Given the description of an element on the screen output the (x, y) to click on. 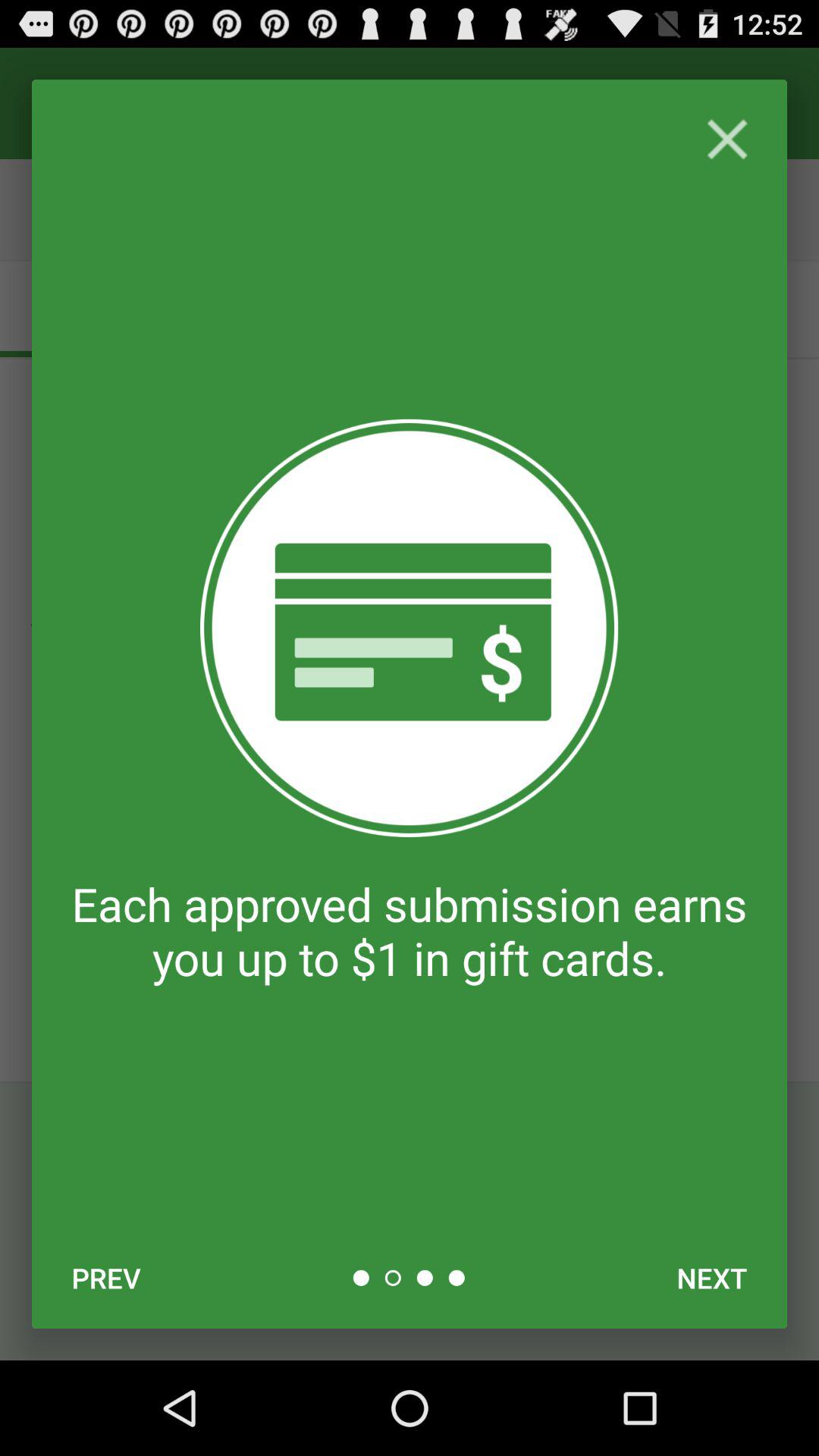
close (727, 139)
